Given the description of an element on the screen output the (x, y) to click on. 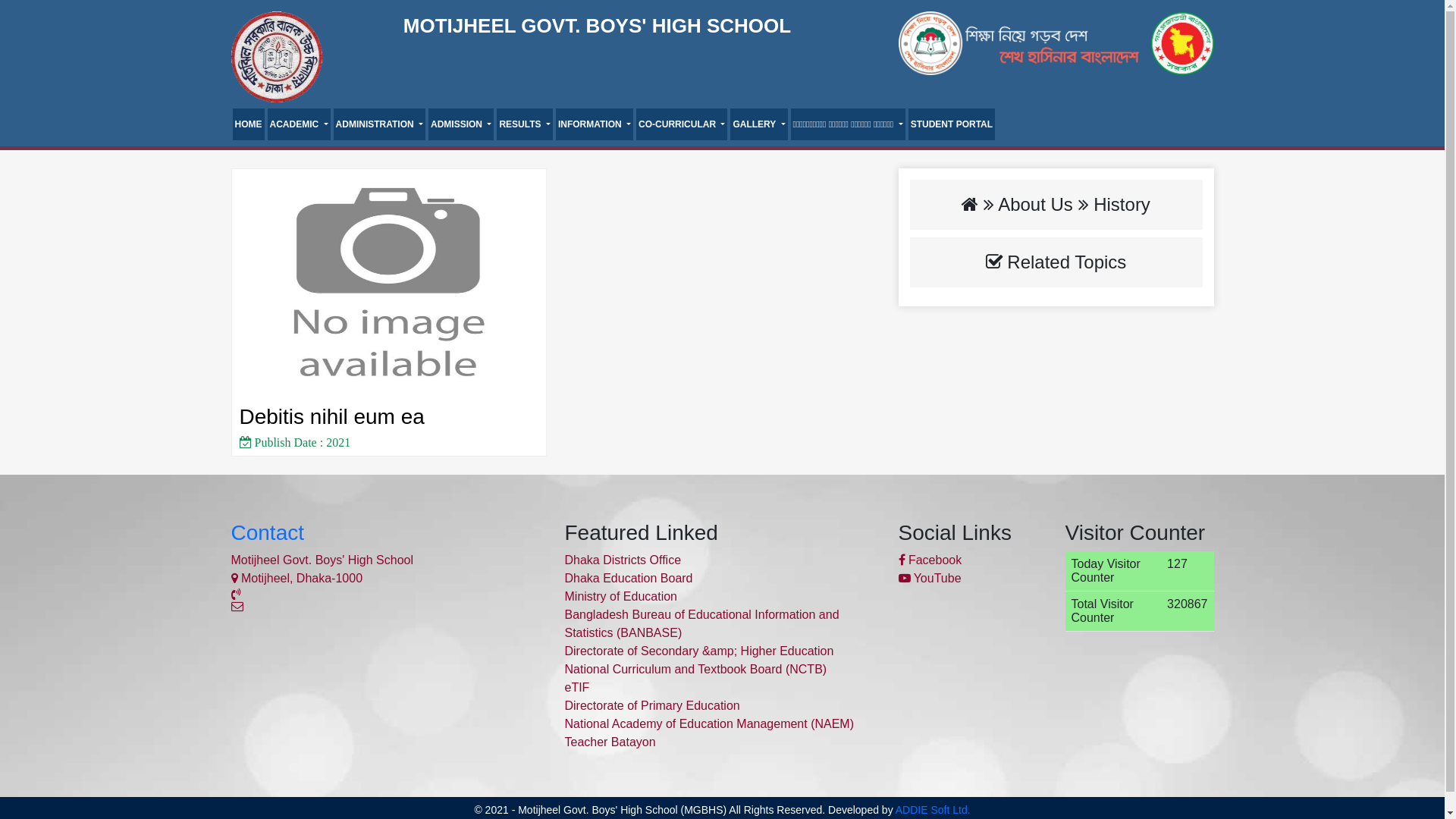
National Curriculum and Textbook Board (NCTB) Element type: text (695, 668)
HOME Element type: text (247, 124)
Facebook Element type: text (929, 559)
National Academy of Education Management (NAEM) Element type: text (708, 723)
Directorate of Primary Education Element type: text (651, 705)
Debitis nihil eum ea Element type: text (331, 416)
YouTube Element type: text (928, 577)
ADMINISTRATION Element type: text (379, 124)
Teacher Batayon Element type: text (609, 741)
CO-CURRICULAR Element type: text (681, 124)
Debitis nihil eum ea Element type: hover (389, 282)
ADMISSION Element type: text (460, 124)
Dhaka Education Board Element type: text (628, 577)
INFORMATION Element type: text (594, 124)
Directorate of Secondary &amp; Higher Education Element type: text (698, 650)
ADDIE Soft Ltd. Element type: text (932, 809)
RESULTS Element type: text (524, 124)
ACADEMIC Element type: text (297, 124)
Ministry of Education Element type: text (620, 595)
GALLERY Element type: text (758, 124)
STUDENT PORTAL Element type: text (951, 124)
Contact Element type: text (267, 532)
Dhaka Districts Office Element type: text (622, 559)
eTIF Element type: text (576, 686)
